Given the description of an element on the screen output the (x, y) to click on. 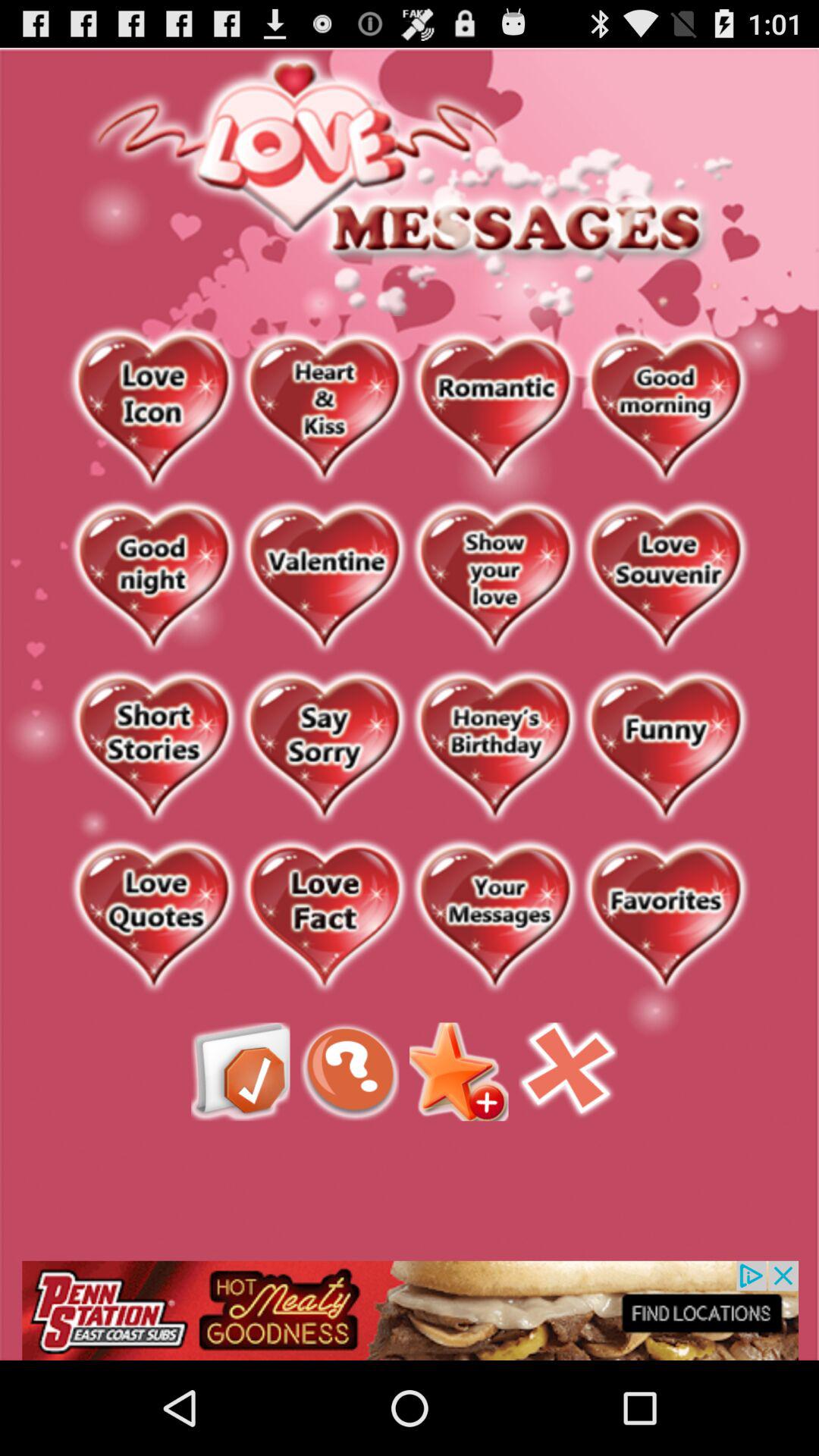
menu option (240, 1071)
